Given the description of an element on the screen output the (x, y) to click on. 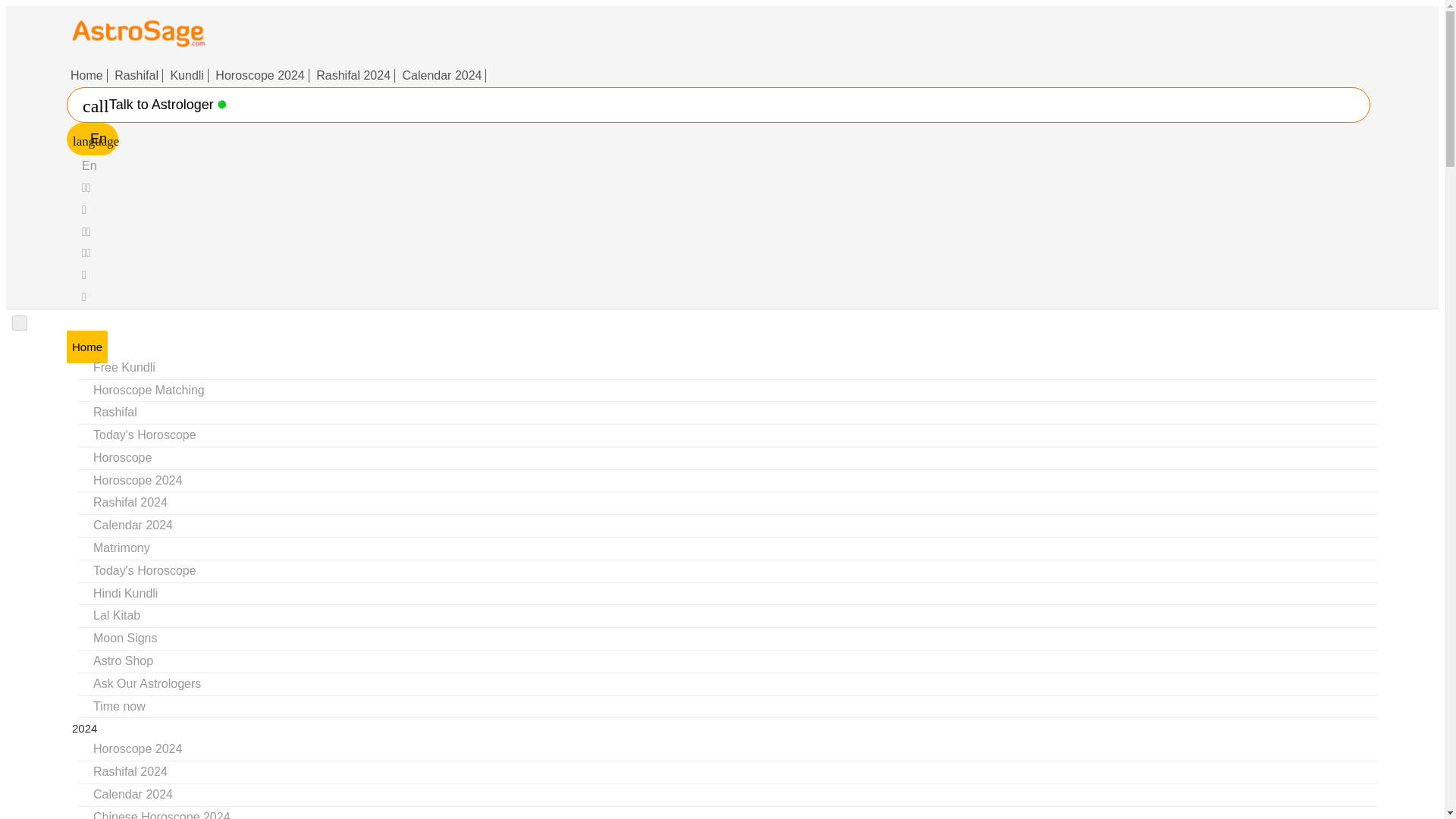
Calendar 2024 (442, 75)
Rashifal 2024 (130, 502)
Get your daily rashifal in hindi (115, 412)
Matrimony (121, 547)
En (89, 165)
Today's Horoscope (144, 434)
Horoscope (122, 457)
AstroSageMarriage.com: Free Matrimony - Shaadi (121, 547)
Bengali (86, 231)
Marathi (83, 296)
Horoscope Matching (148, 389)
Rashifal (115, 412)
English (89, 165)
Telugu (83, 209)
